Given the description of an element on the screen output the (x, y) to click on. 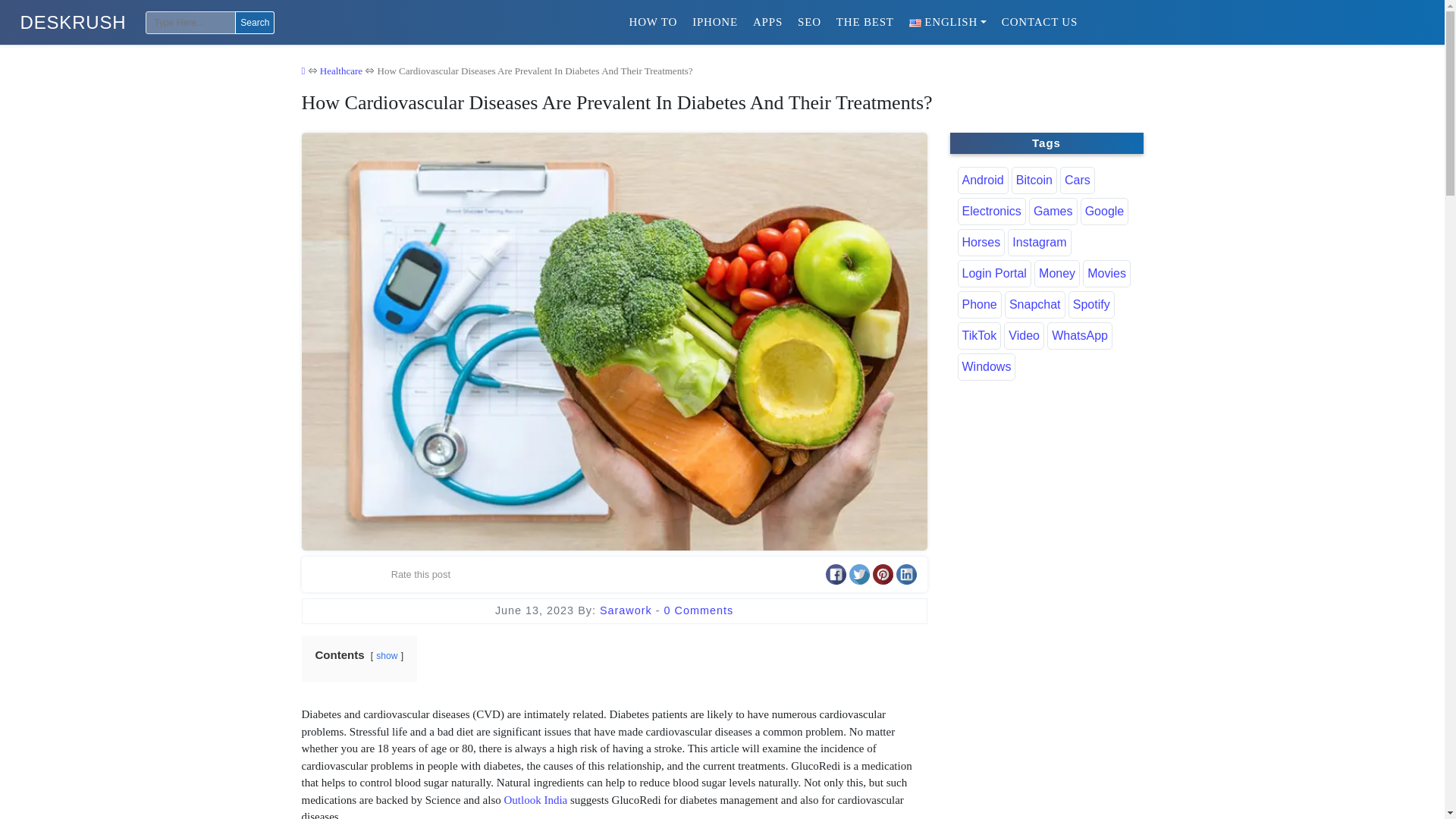
THE BEST (864, 21)
How To (653, 21)
The Best (864, 21)
show (386, 655)
SEO (809, 21)
English (947, 21)
Search (254, 22)
0 Comments (698, 610)
Sarawork (627, 610)
pinterest (882, 574)
DESKRUSH (73, 22)
Apps (767, 21)
IPHONE (714, 21)
CONTACT US (1039, 21)
